Given the description of an element on the screen output the (x, y) to click on. 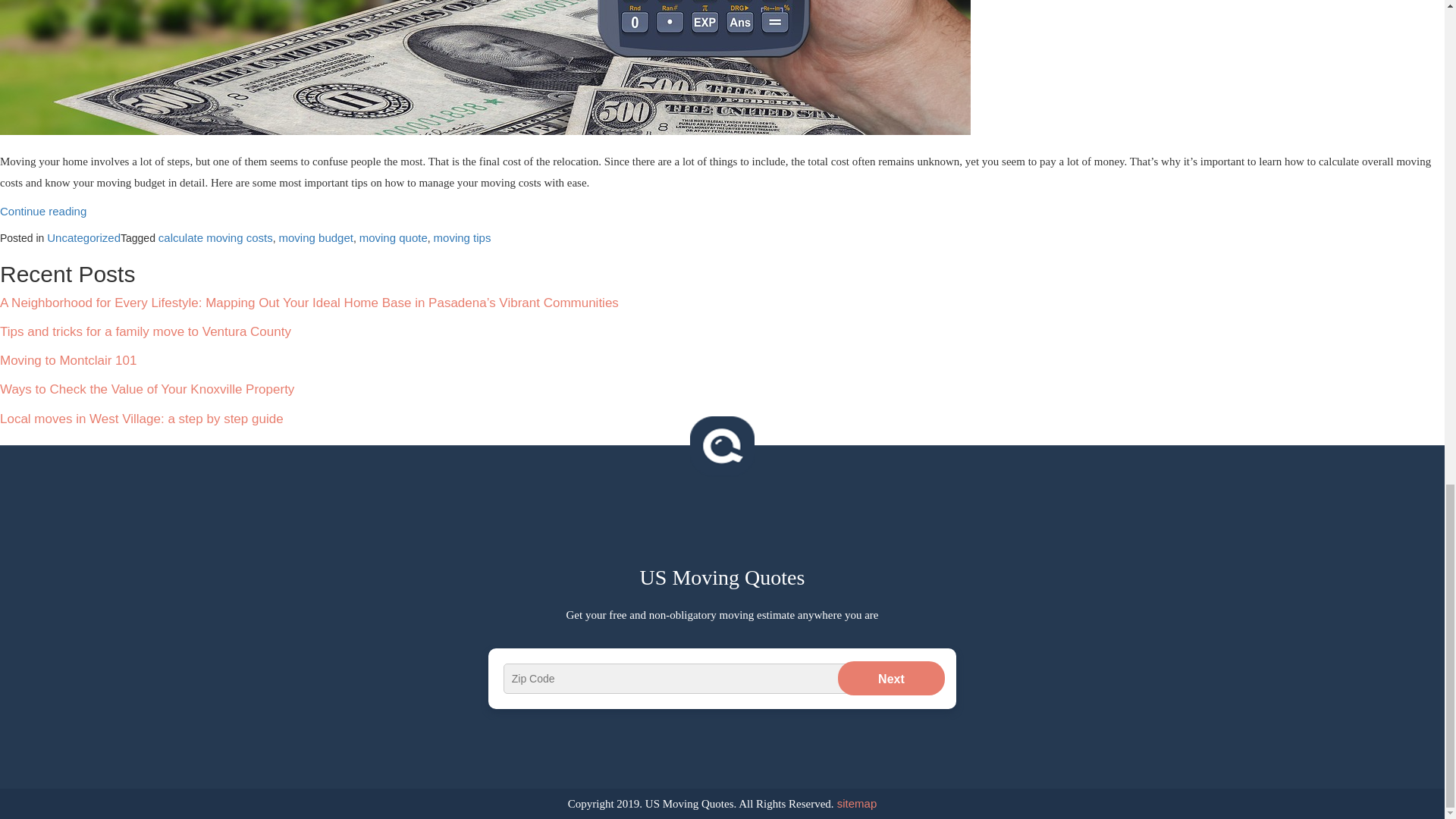
Send (648, 689)
Uncategorized (83, 237)
moving budget (316, 237)
Ways to Check the Value of Your Knoxville Property (147, 389)
Local moves in West Village: a step by step guide (141, 418)
Tips and tricks for a family move to Ventura County (145, 331)
Moving to Montclair 101 (68, 359)
moving tips (462, 237)
moving quote (393, 237)
calculate moving costs (215, 237)
sitemap (855, 802)
Next (891, 677)
